Given the description of an element on the screen output the (x, y) to click on. 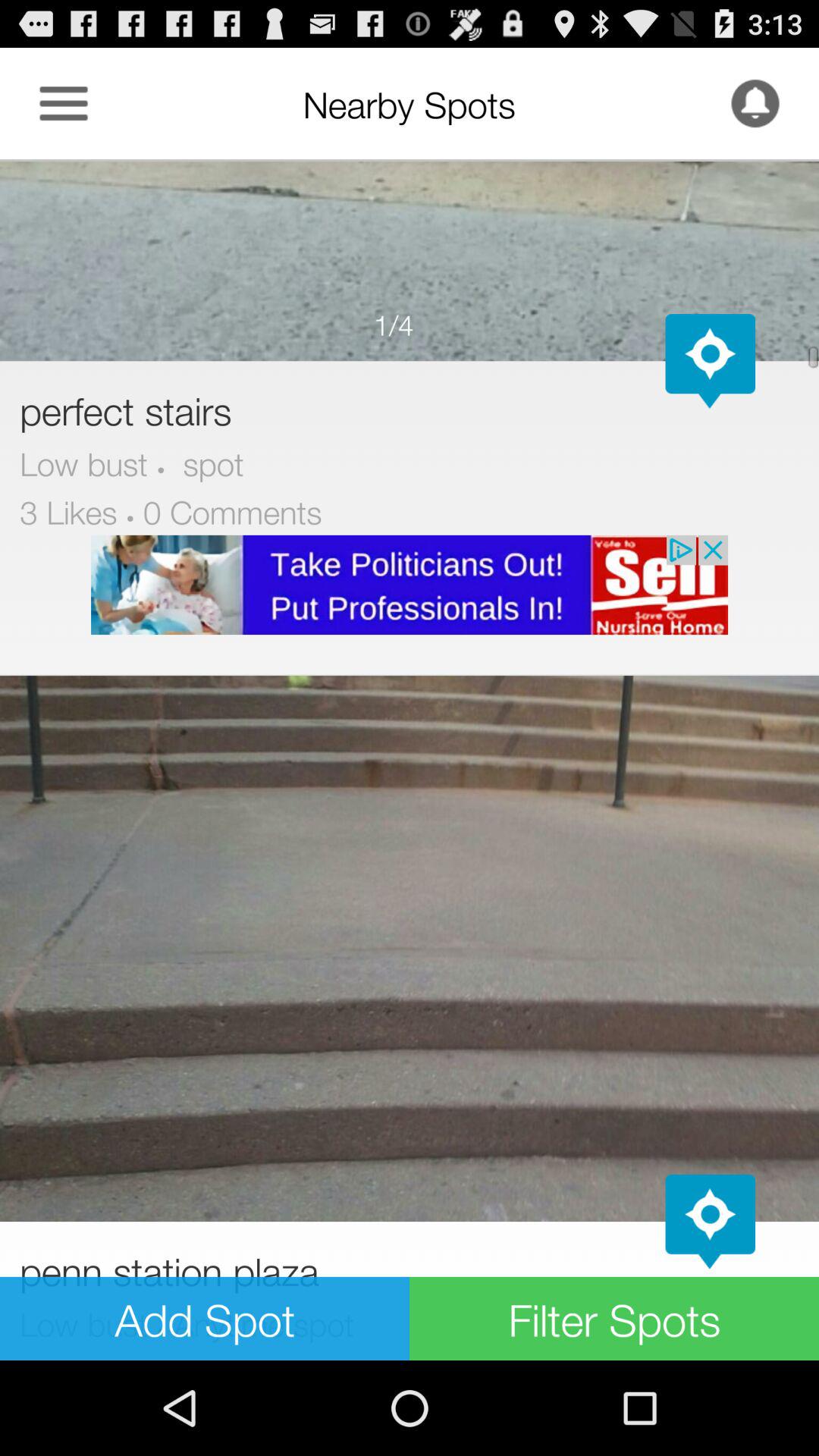
button to activate the menu (63, 103)
